Given the description of an element on the screen output the (x, y) to click on. 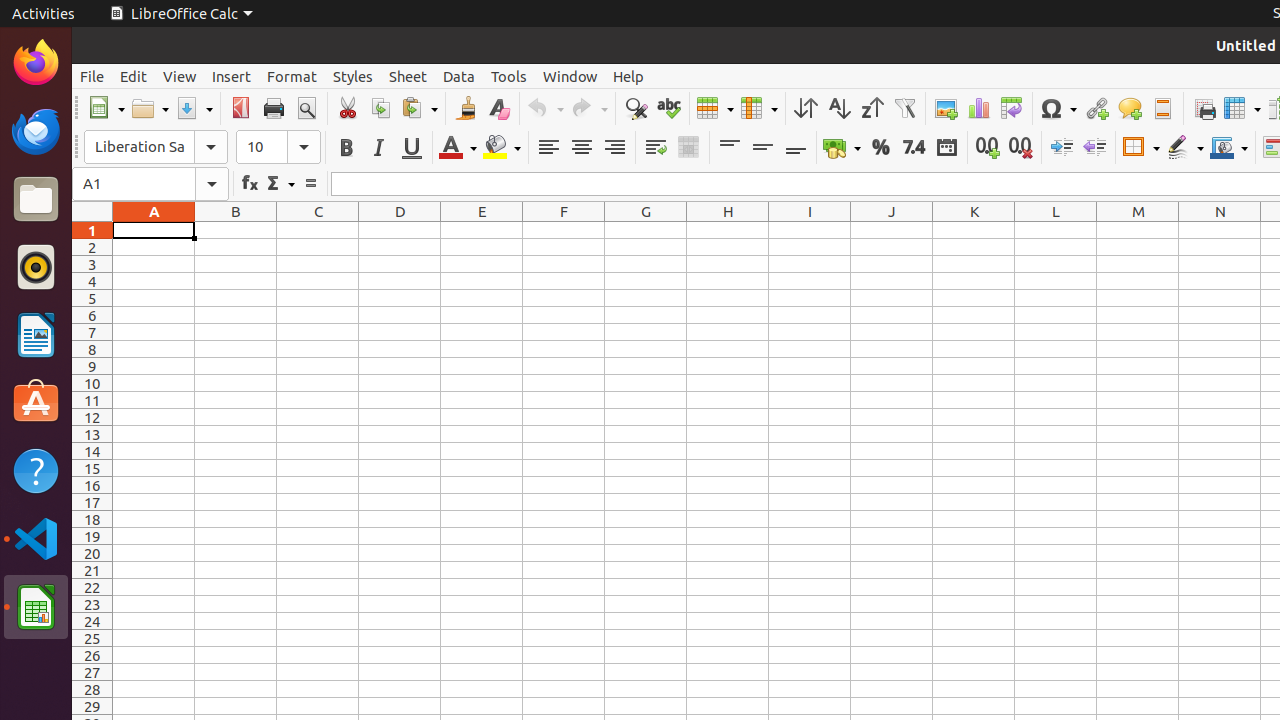
Help Element type: menu (628, 76)
Select Function Element type: push-button (280, 183)
Print Preview Element type: toggle-button (306, 108)
Font Size Element type: combo-box (278, 147)
C1 Element type: table-cell (318, 230)
